Given the description of an element on the screen output the (x, y) to click on. 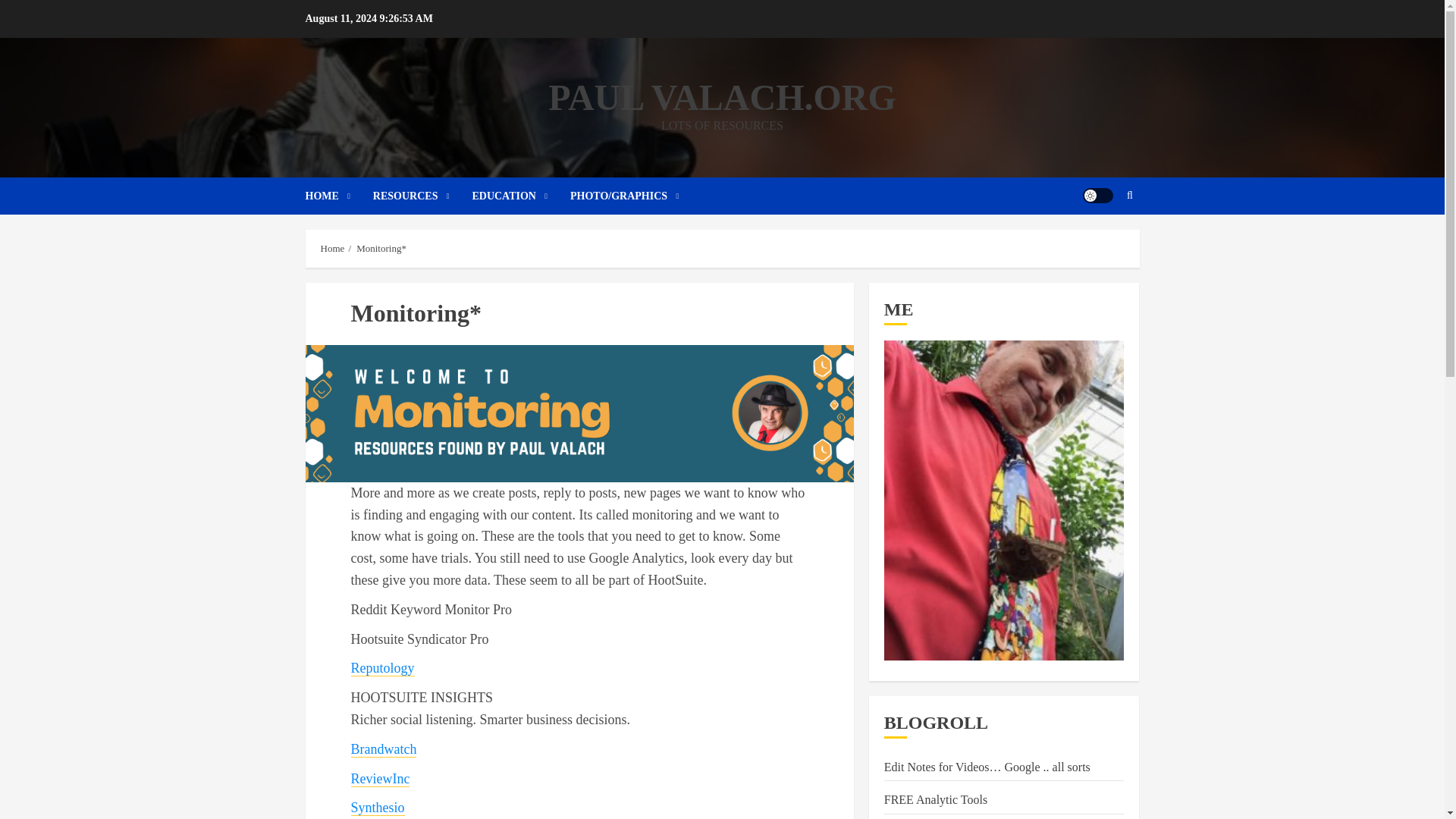
EDUCATION (520, 195)
HOME (338, 195)
Take notes, videos, Google mixed in (986, 766)
RESOURCES (421, 195)
PAUL VALACH.ORG (722, 96)
